Given the description of an element on the screen output the (x, y) to click on. 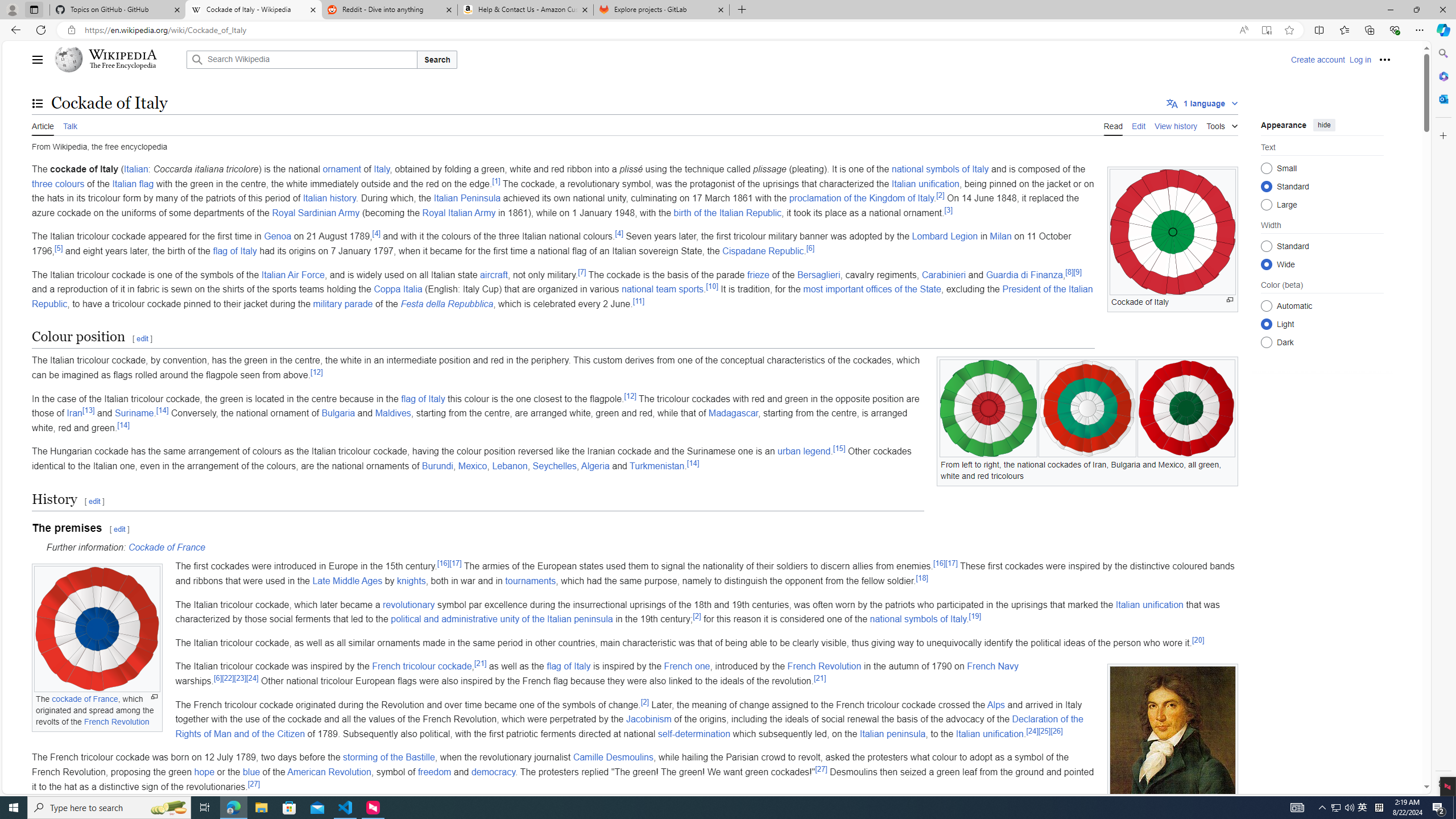
[19] (974, 615)
[1] (496, 180)
Burundi (436, 466)
blue (250, 771)
Create account (1317, 58)
Royal Italian Army (459, 212)
Iran (74, 413)
Maldives (392, 413)
[2] (644, 700)
[7] (582, 271)
Italian peninsula (892, 733)
Automatic (1266, 305)
Copilot (Ctrl+Shift+.) (1442, 29)
Italy (382, 169)
Carabinieri (943, 274)
